Given the description of an element on the screen output the (x, y) to click on. 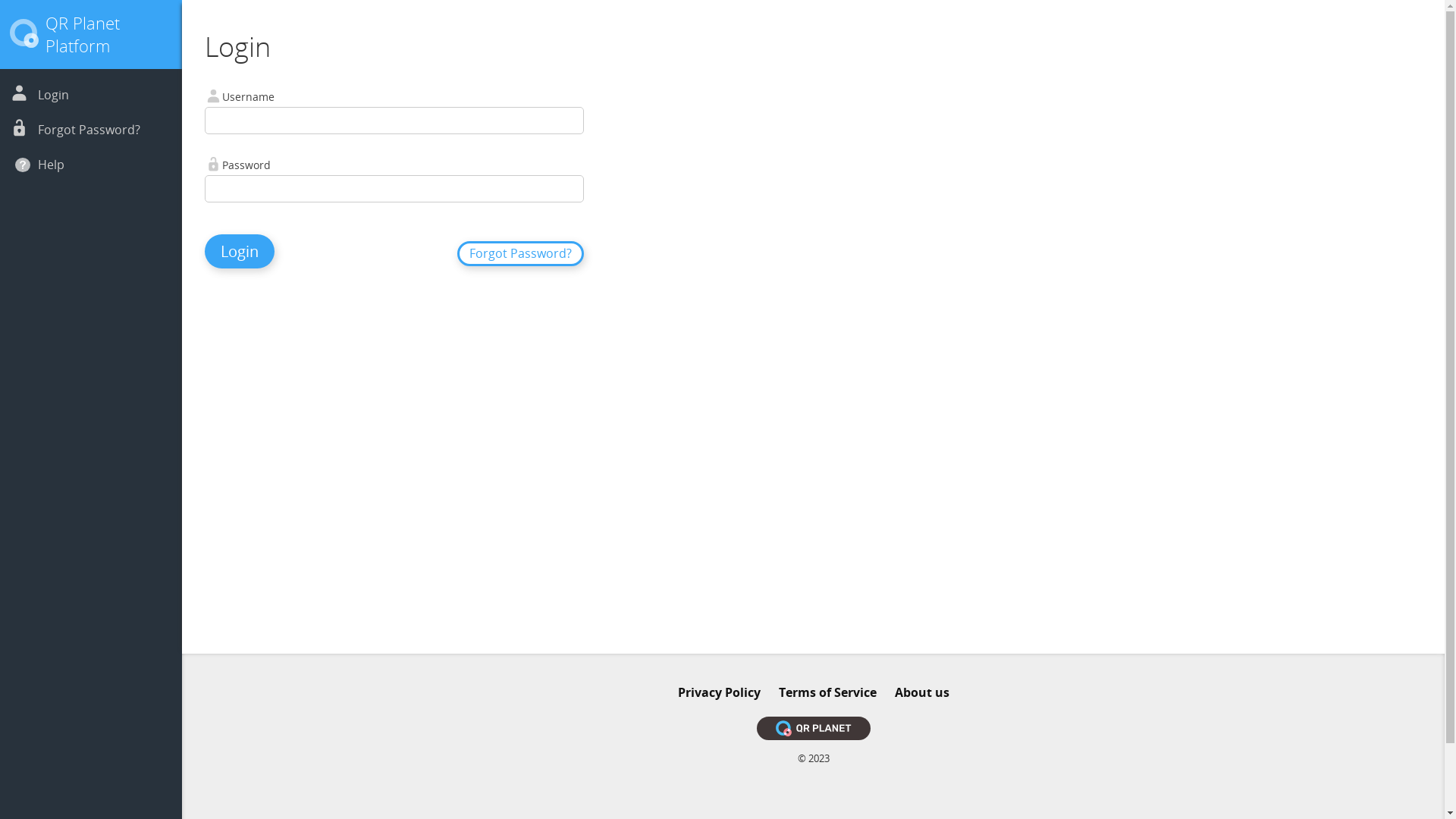
QR Planet Platform Element type: text (82, 33)
Forgot Password? Element type: text (520, 253)
About us Element type: text (921, 692)
Terms of Service Element type: text (826, 692)
Help Element type: text (51, 164)
Privacy Policy Element type: text (718, 692)
Login Element type: text (239, 251)
Login Element type: text (53, 94)
Forgot Password? Element type: text (88, 129)
